Given the description of an element on the screen output the (x, y) to click on. 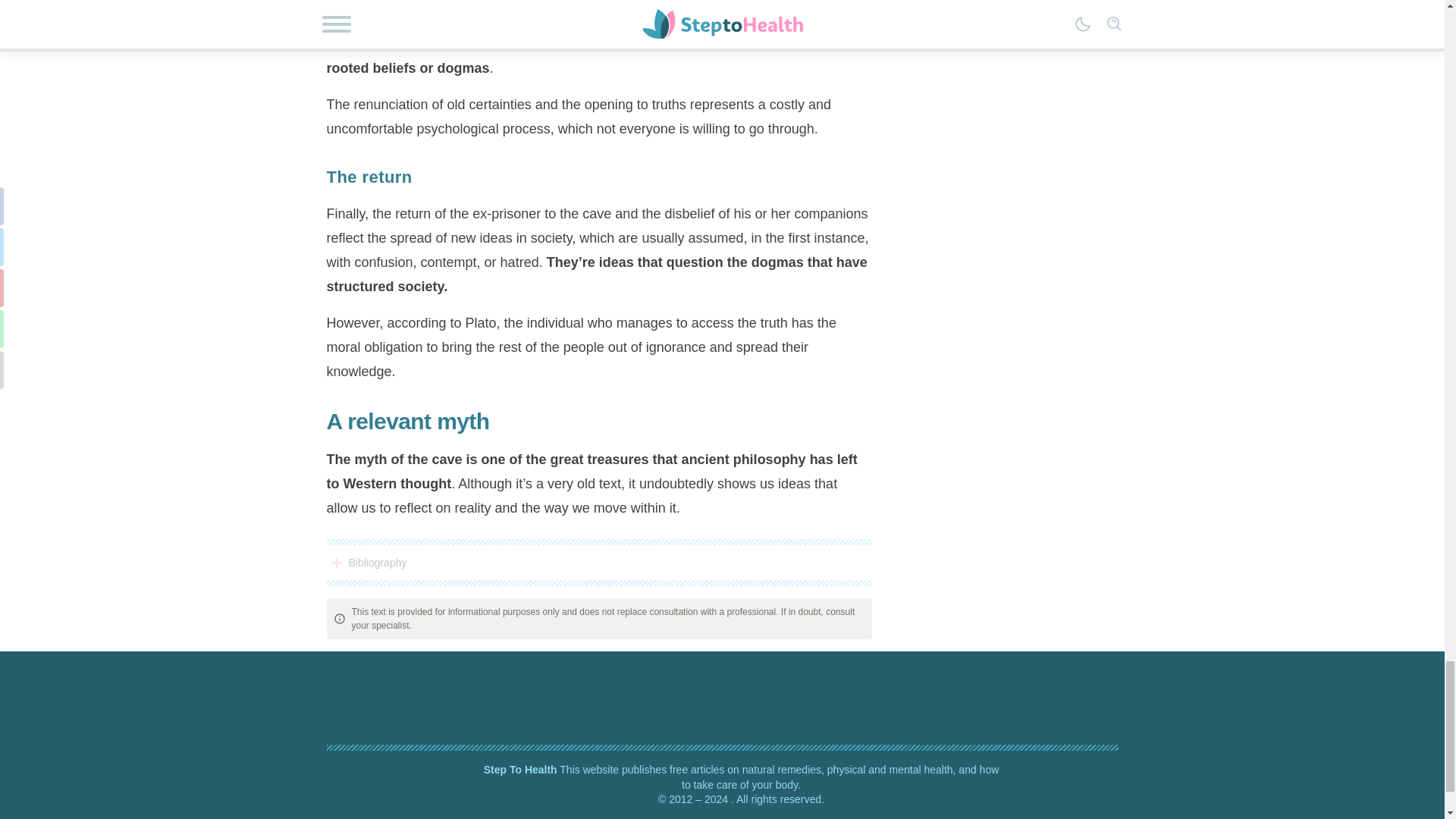
Bibliography (598, 562)
insecurity, (800, 19)
